Given the description of an element on the screen output the (x, y) to click on. 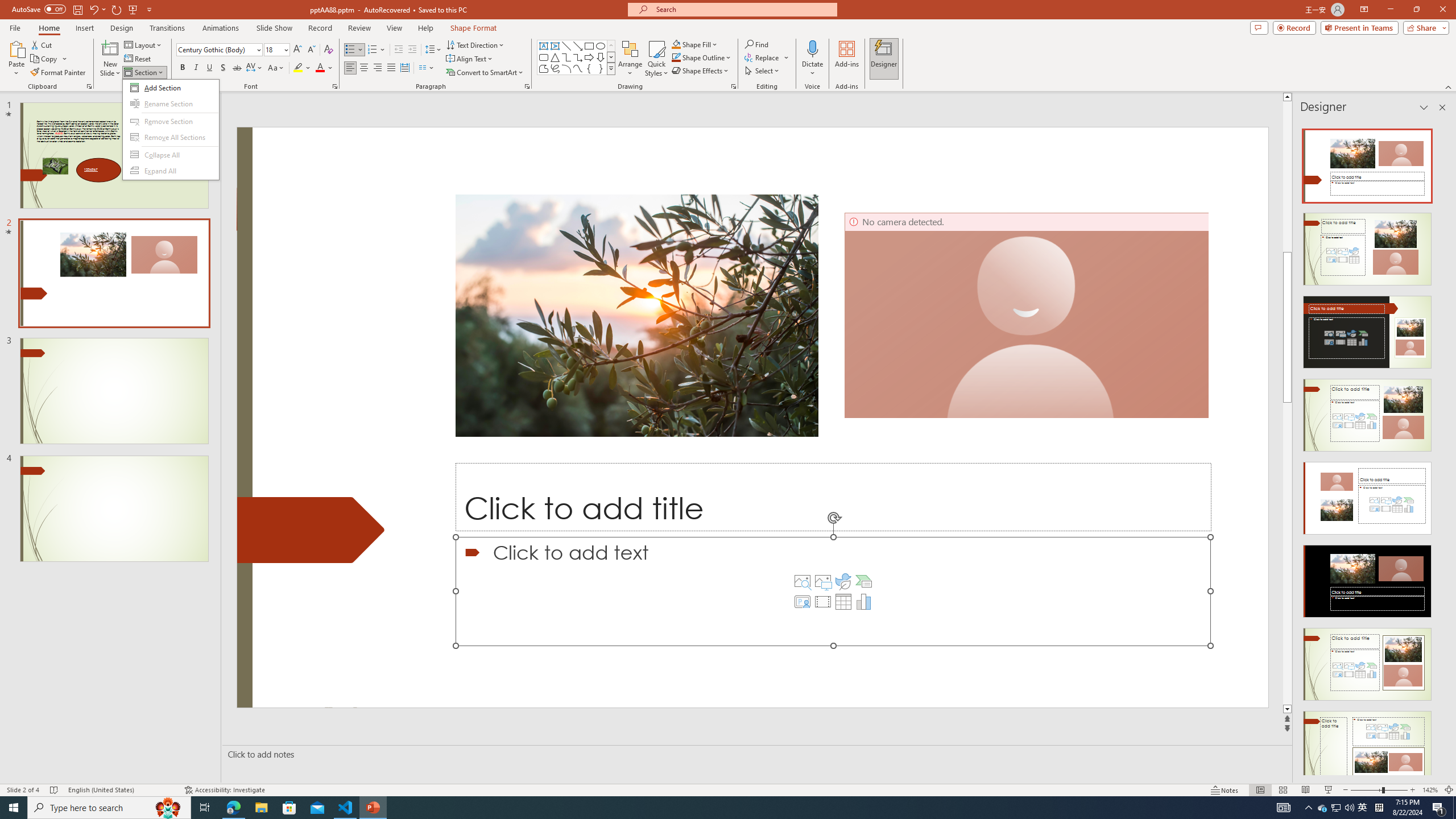
&Section (170, 129)
Action Center, 1 new notification (1439, 807)
